Given the description of an element on the screen output the (x, y) to click on. 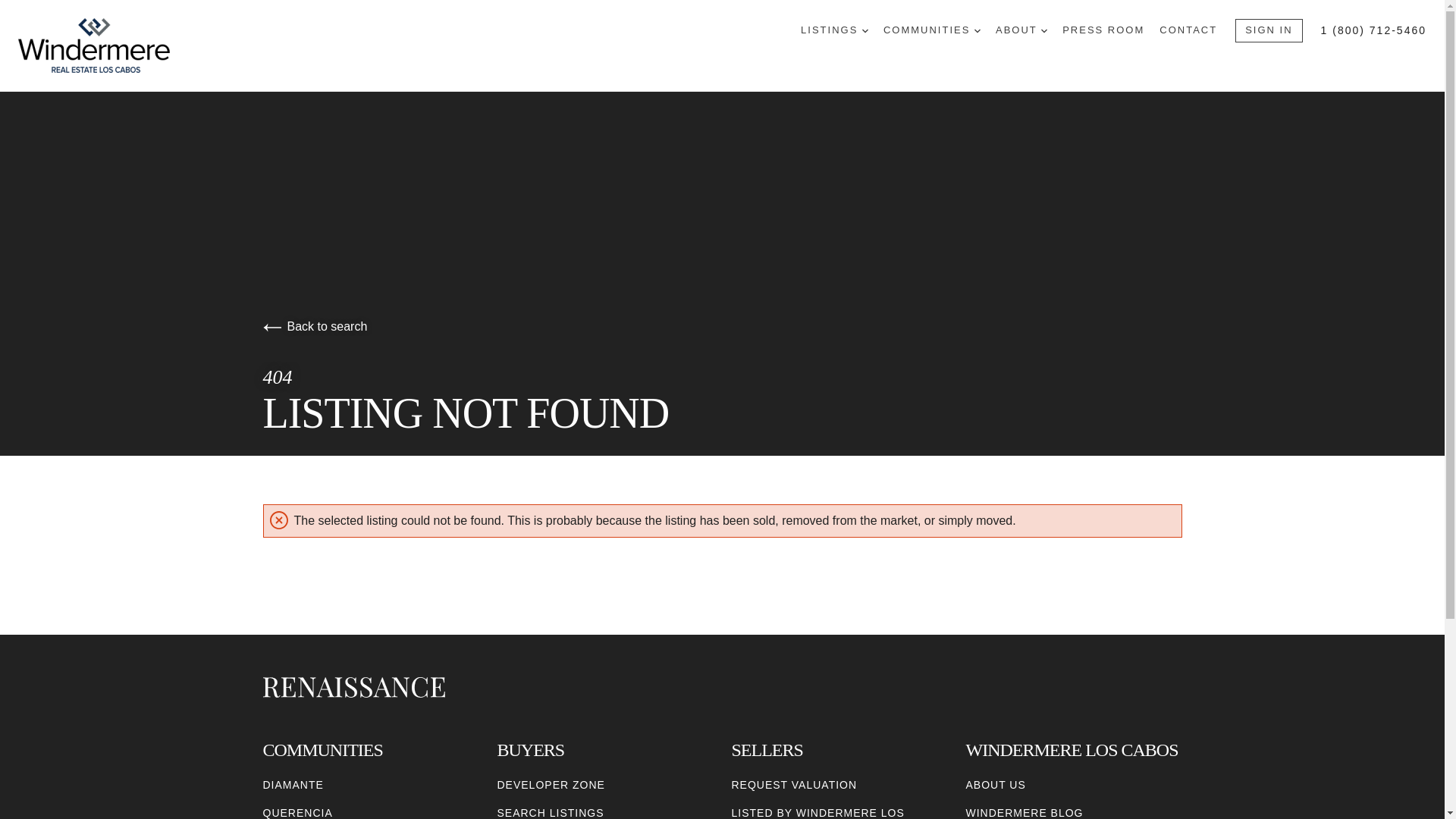
DIAMANTE (292, 785)
LISTINGS DROPDOWN ARROW (833, 30)
COMMUNITIES DROPDOWN ARROW (931, 30)
Back to search (314, 326)
DROPDOWN ARROW (976, 30)
DROPDOWN ARROW (864, 30)
ABOUT DROPDOWN ARROW (1020, 30)
DROPDOWN ARROW (1043, 30)
PRESS ROOM (1103, 30)
CONTACT (1187, 30)
SIGN IN (1267, 30)
QUERENCIA (296, 812)
